Given the description of an element on the screen output the (x, y) to click on. 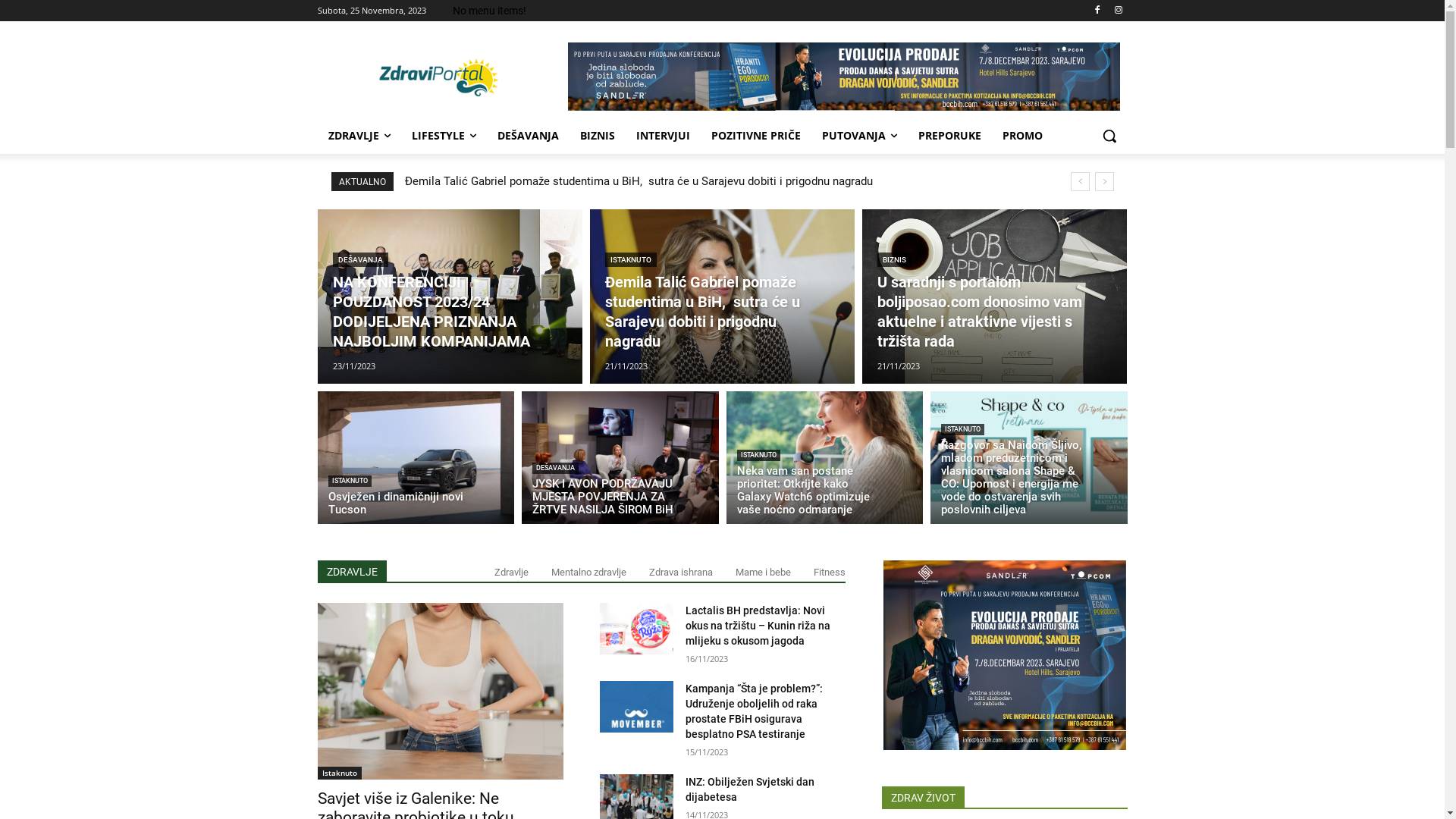
Mame i bebe Element type: text (762, 571)
Istaknuto Element type: text (338, 772)
Instagram Element type: hover (1118, 9)
ISTAKNUTO Element type: text (962, 429)
ZDRAVLJE Element type: text (358, 135)
PROMO Element type: text (1022, 135)
BIZNIS Element type: text (894, 259)
ISTAKNUTO Element type: text (630, 259)
PREPORUKE Element type: text (948, 135)
Mentalno zdravlje Element type: text (587, 571)
Facebook Element type: hover (1097, 9)
LIFESTYLE Element type: text (443, 135)
PUTOVANJA Element type: text (859, 135)
BIZNIS Element type: text (596, 135)
Fitness Element type: text (828, 571)
INTERVJUI Element type: text (661, 135)
Zdrava ishrana Element type: text (680, 571)
ISTAKNUTO Element type: text (758, 455)
Zdravlje Element type: text (511, 571)
ISTAKNUTO Element type: text (348, 480)
